Given the description of an element on the screen output the (x, y) to click on. 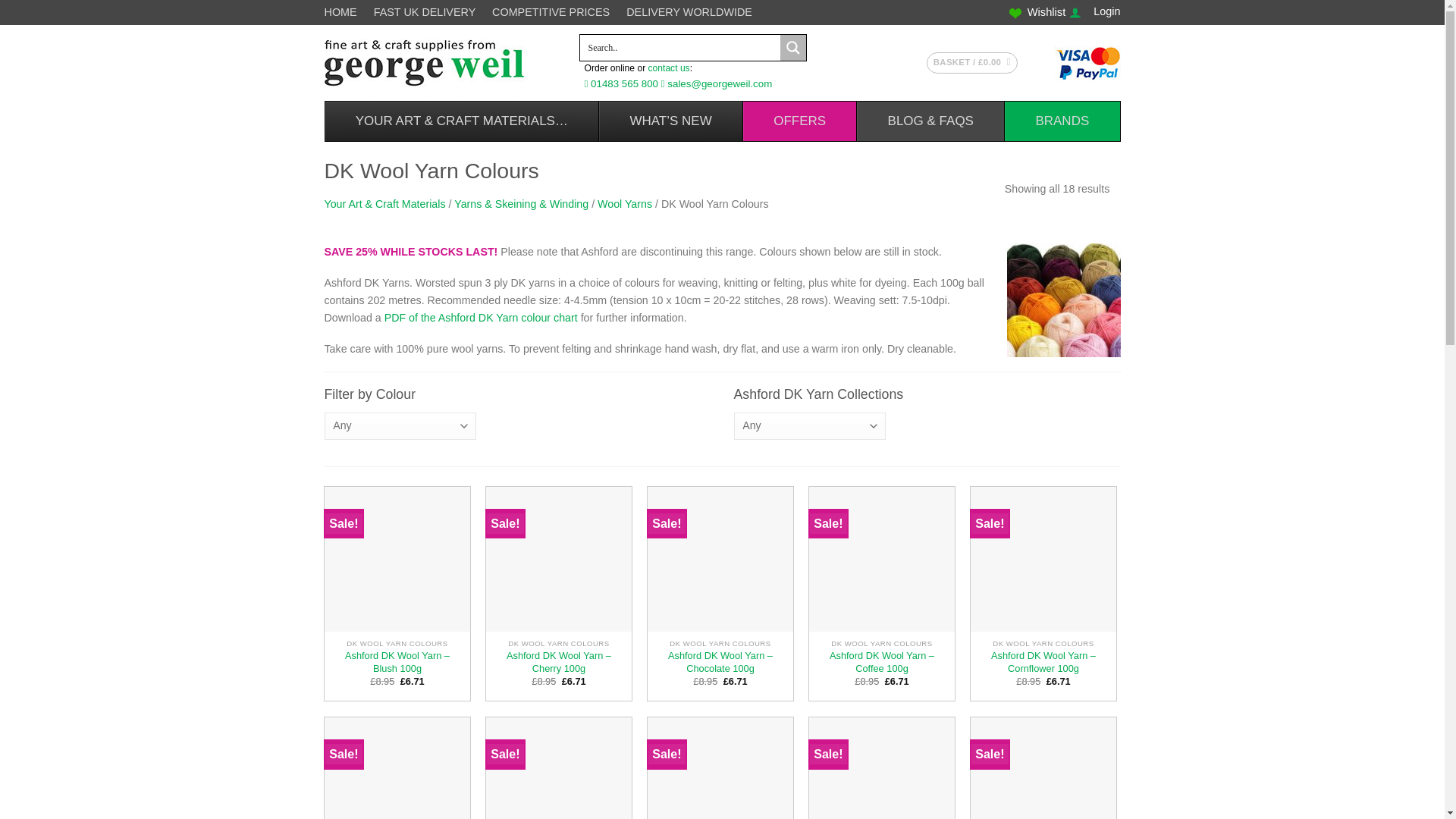
contact us (668, 68)
Basket (971, 62)
HOME   (343, 12)
Wishlist (1046, 11)
01483 565 800 (626, 83)
FAST UK DELIVERY   (427, 12)
COMPETITIVE PRICES   (553, 12)
Login (1106, 11)
DELIVERY WORLDWIDE (689, 12)
Login (1106, 11)
